Given the description of an element on the screen output the (x, y) to click on. 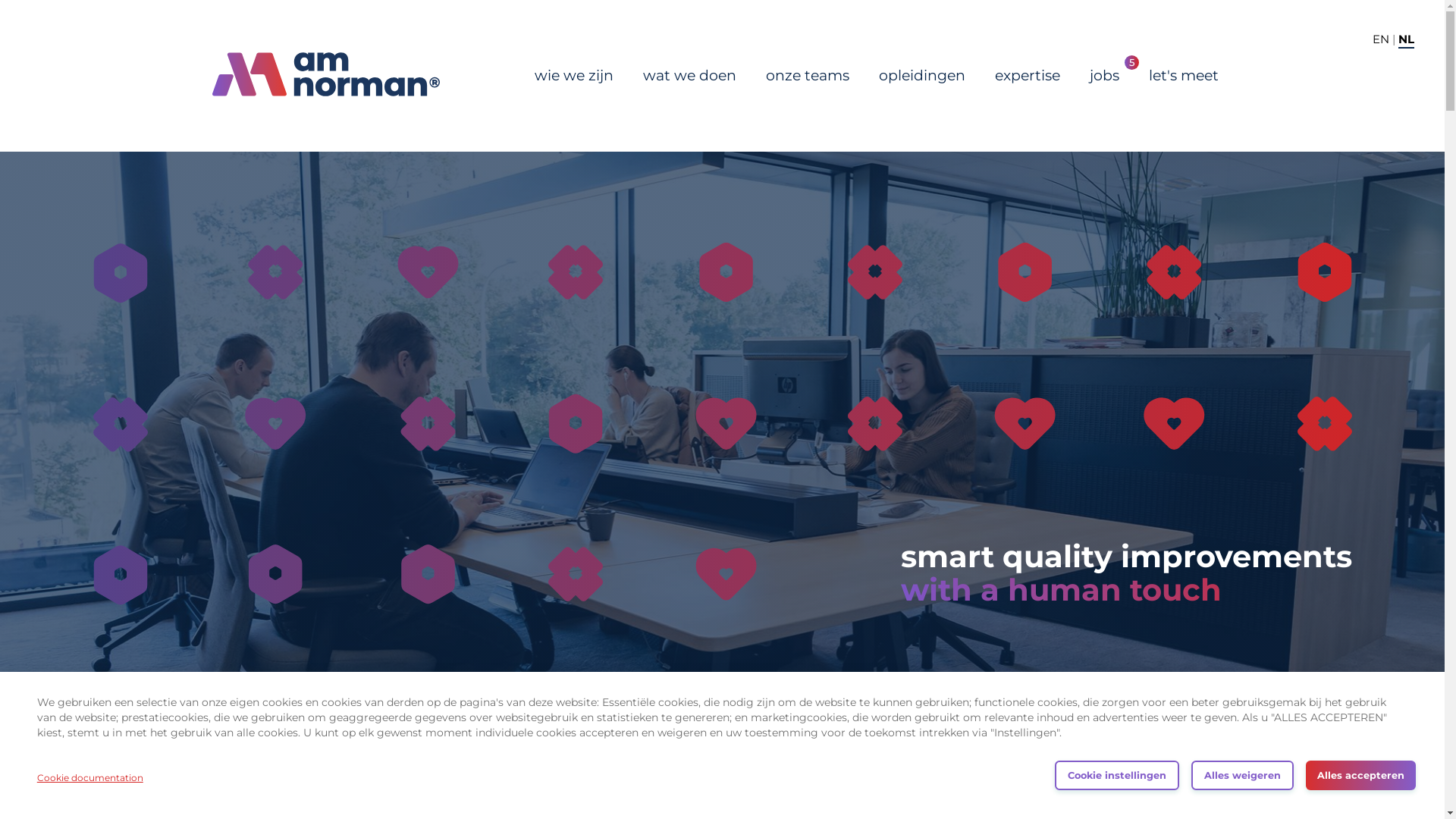
wie we zijn Element type: text (572, 75)
Alles accepteren Element type: text (1360, 775)
let's meet Element type: text (1182, 75)
Cookie documentation Element type: text (90, 777)
expertise Element type: text (1027, 75)
EN Element type: text (1380, 39)
Cookie instellingen Element type: text (1116, 775)
opleidingen Element type: text (920, 75)
wat we doen Element type: text (689, 75)
NL Element type: text (1406, 39)
onze teams Element type: text (807, 75)
jobs
5 Element type: text (1103, 75)
Overslaan en naar de inhoud gaan Element type: text (0, 0)
Alles weigeren Element type: text (1242, 775)
